Given the description of an element on the screen output the (x, y) to click on. 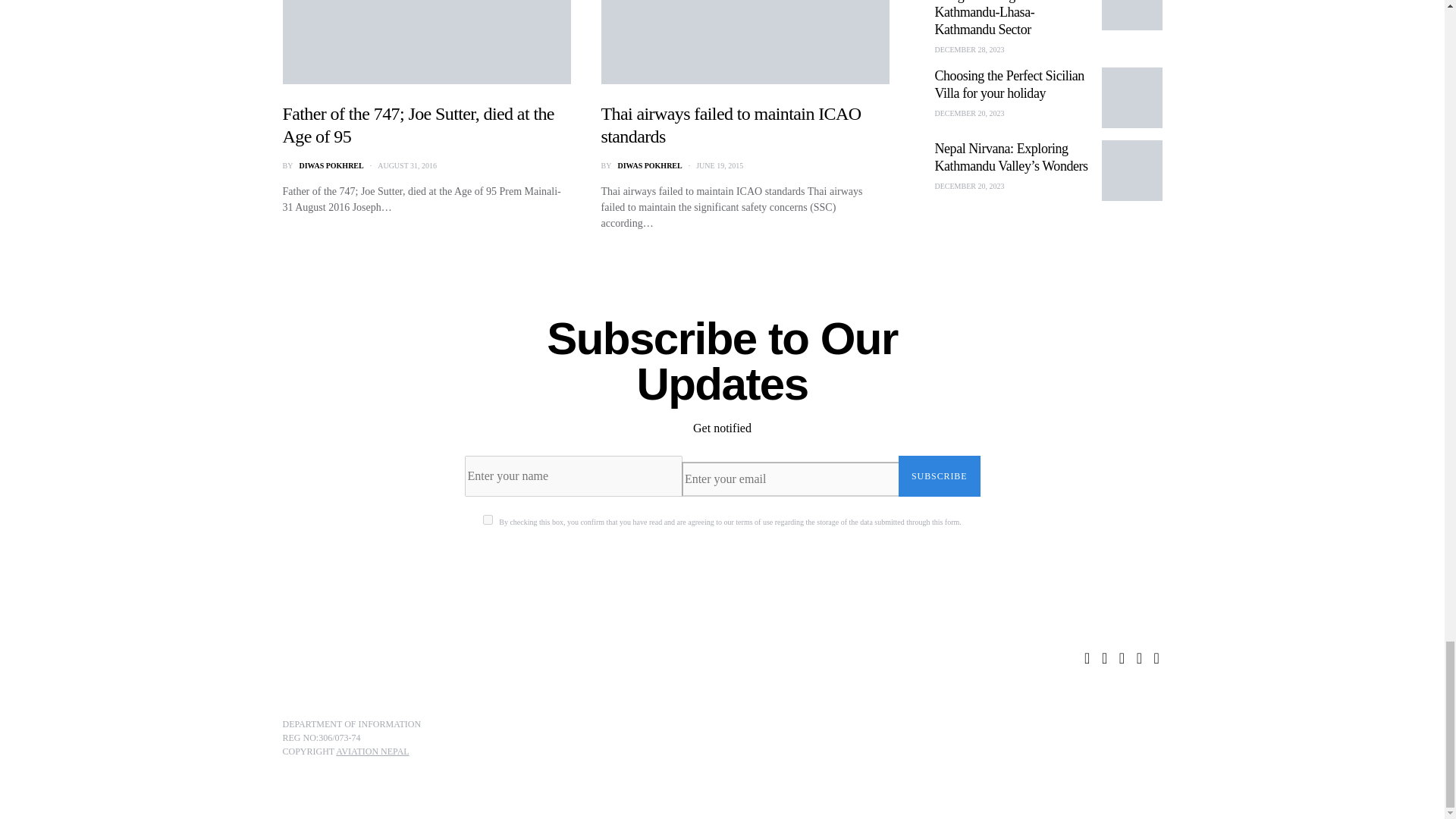
View all posts by Diwas Pokhrel (649, 165)
on (488, 519)
View all posts by Diwas Pokhrel (330, 165)
